Given the description of an element on the screen output the (x, y) to click on. 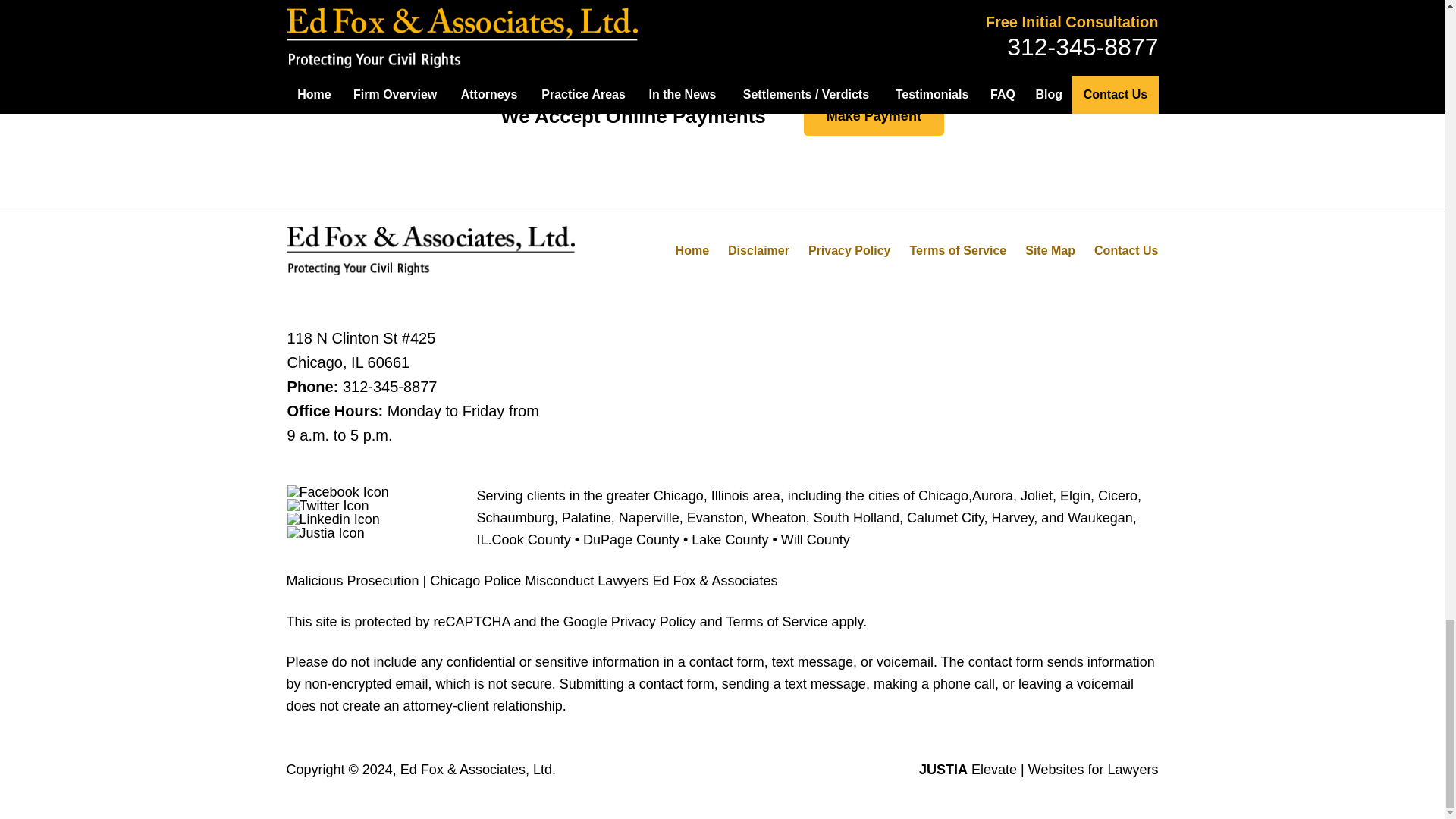
Justia (325, 532)
Linkedin (333, 519)
Twitter (327, 505)
Facebook (337, 491)
